Given the description of an element on the screen output the (x, y) to click on. 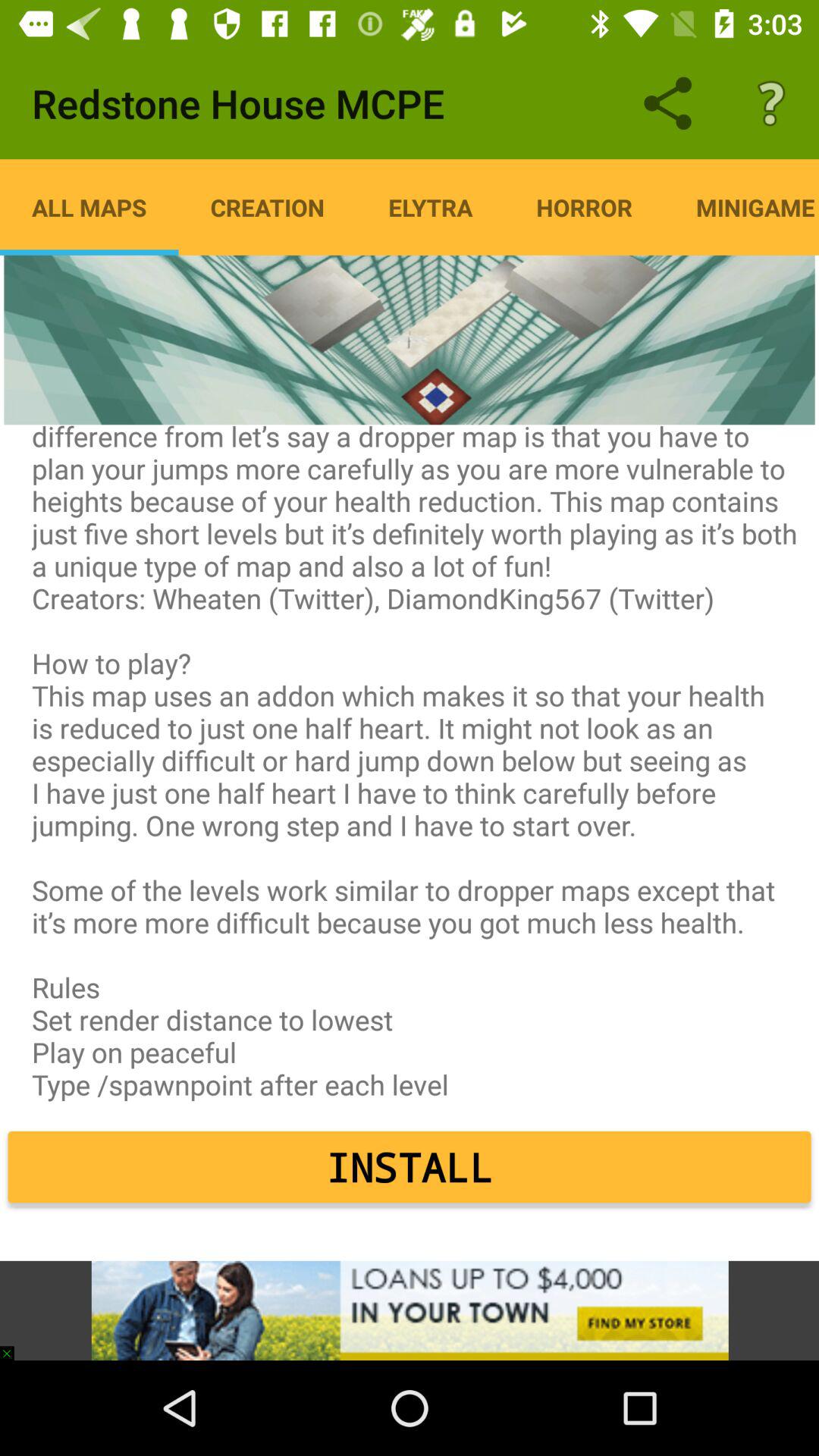
open icon below the install (409, 1310)
